Given the description of an element on the screen output the (x, y) to click on. 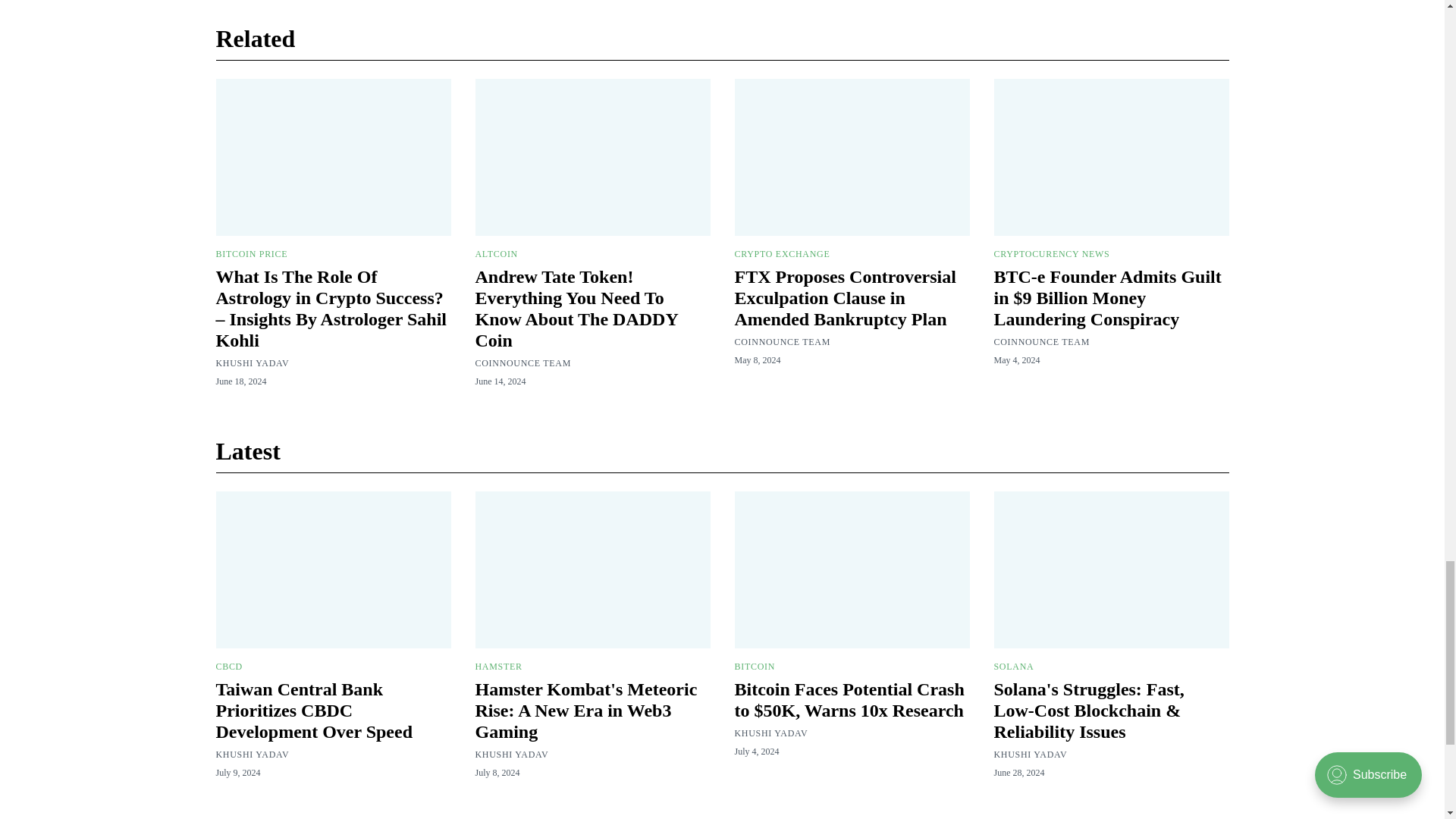
ALTCOIN (495, 253)
COINNOUNCE TEAM (522, 363)
COINNOUNCE TEAM (781, 341)
CRYPTO EXCHANGE (781, 253)
KHUSHI YADAV (251, 363)
BITCOIN PRICE (250, 253)
